Given the description of an element on the screen output the (x, y) to click on. 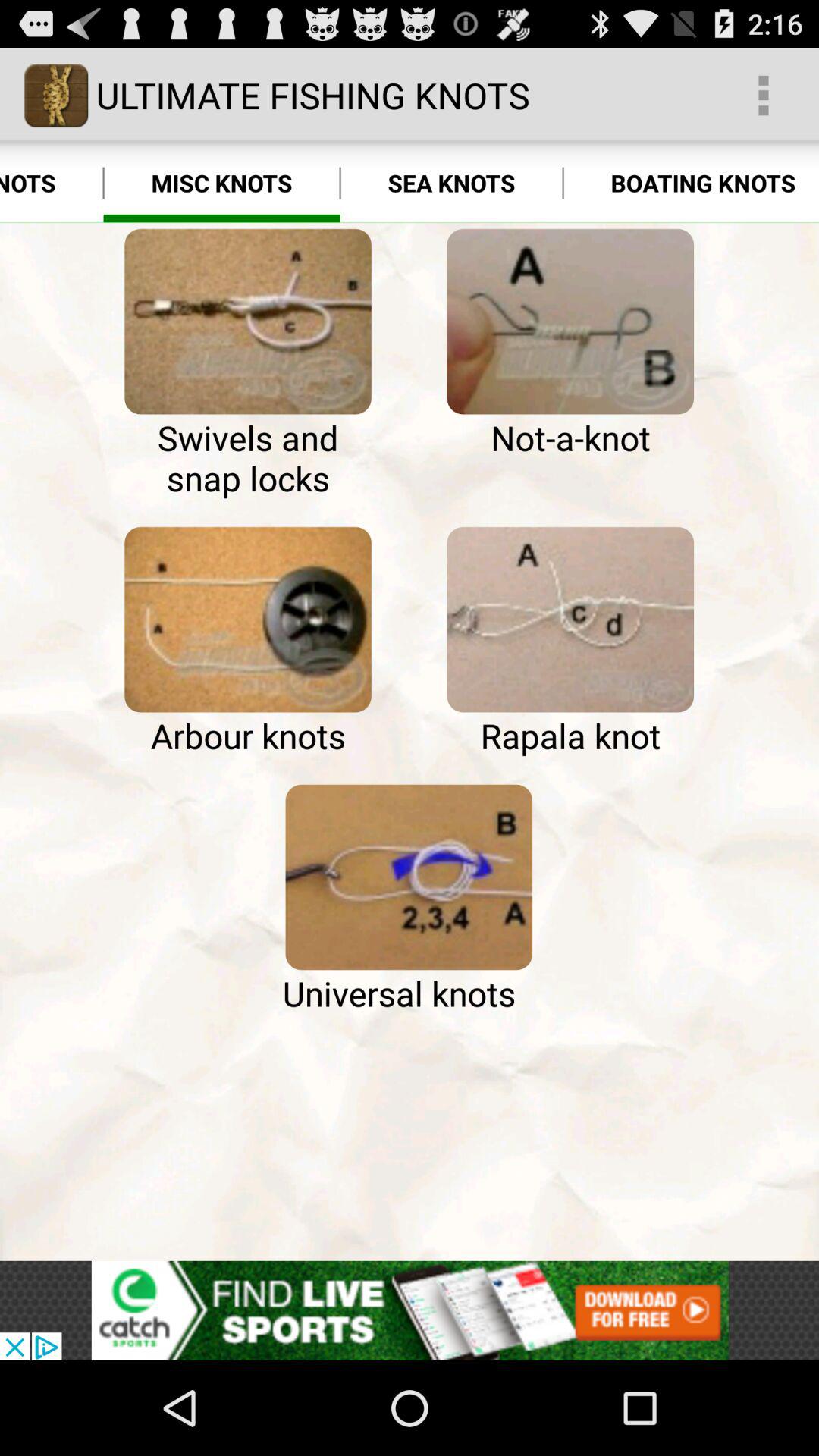
turn on app below sea knots item (570, 321)
